Given the description of an element on the screen output the (x, y) to click on. 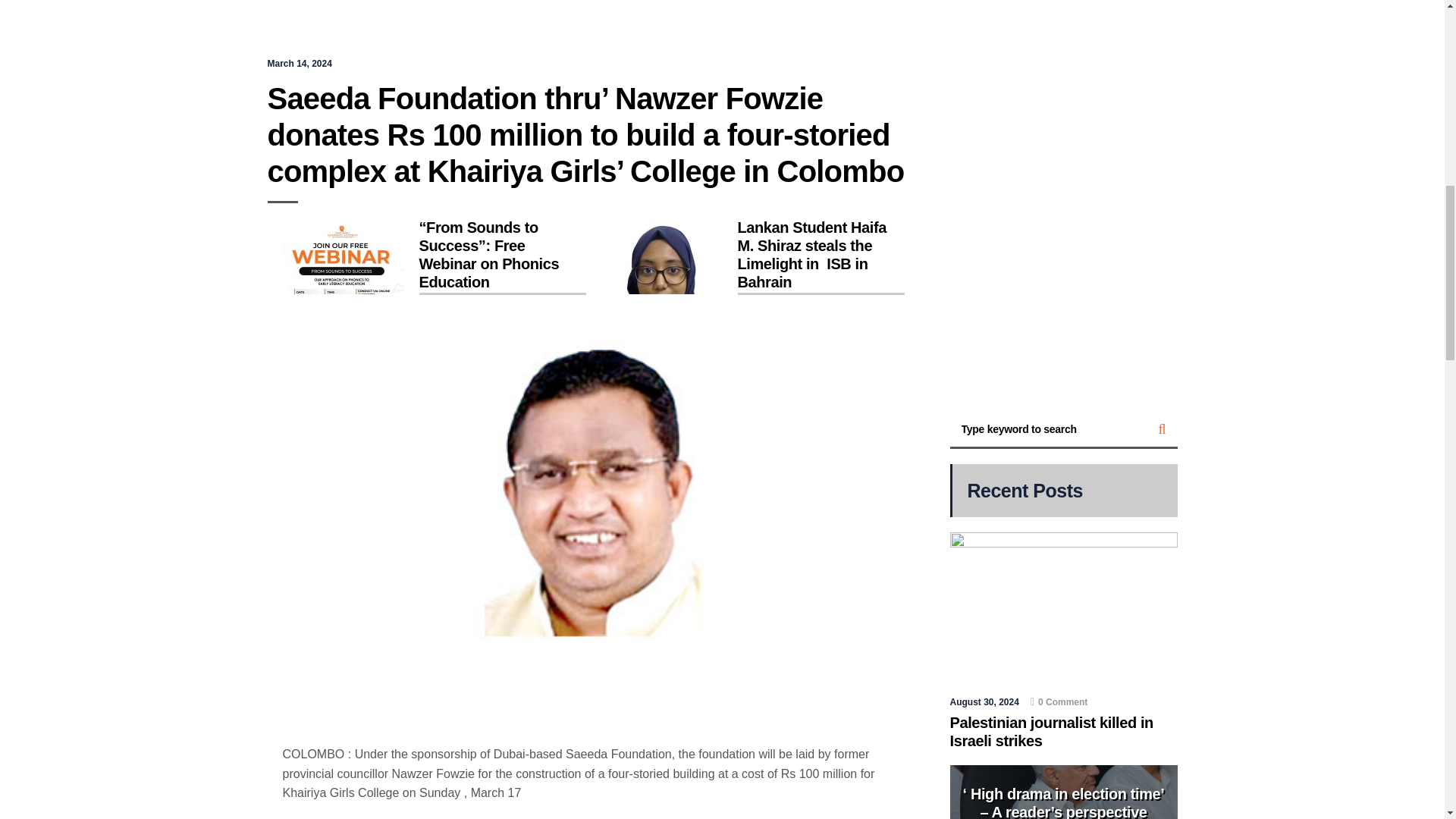
Type keyword to search (1048, 429)
Type keyword to search (1048, 429)
